Given the description of an element on the screen output the (x, y) to click on. 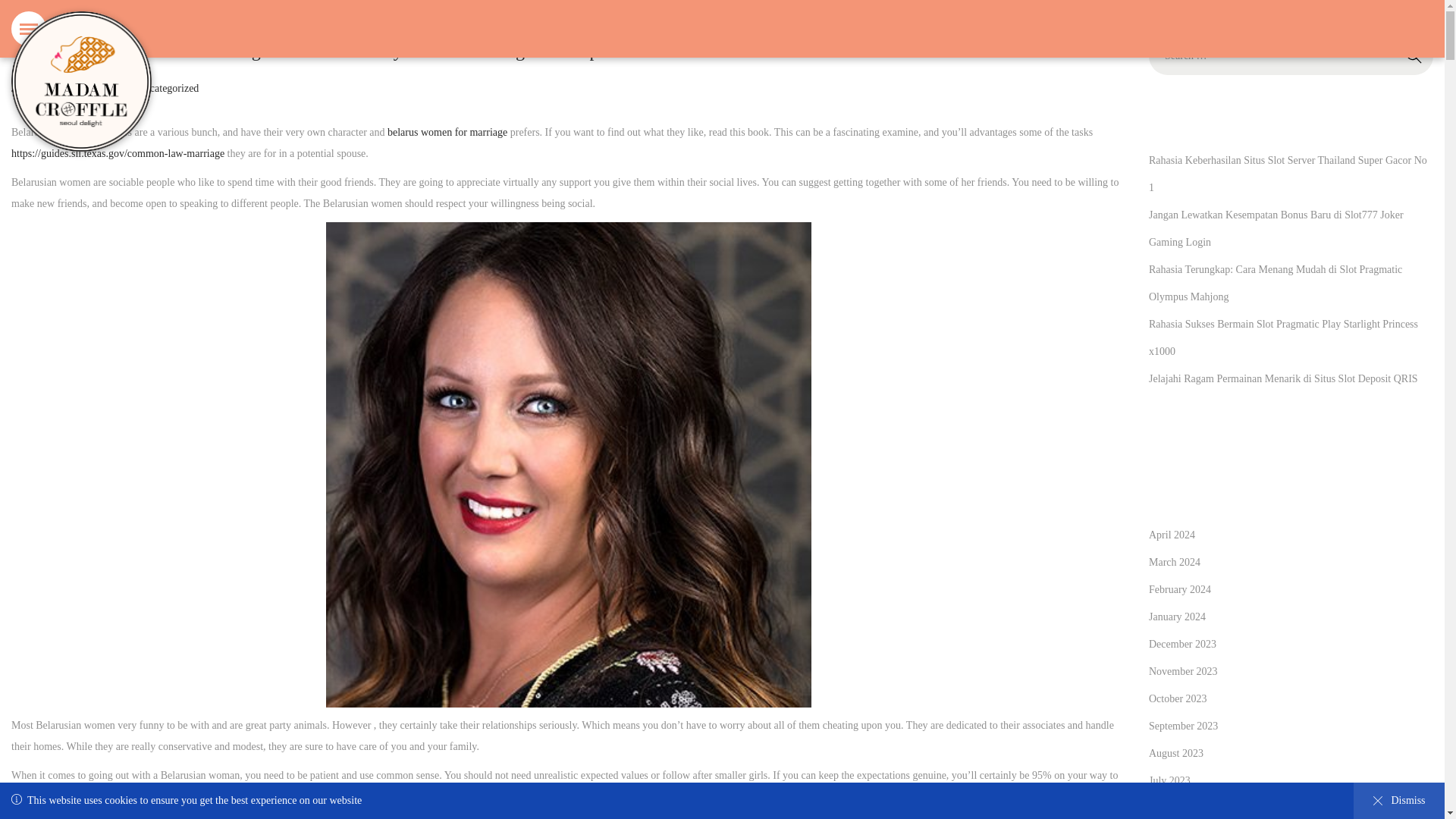
Search (1413, 55)
Jelajahi Ragam Permainan Menarik di Situs Slot Deposit QRIS (1283, 378)
November 2023 (1182, 671)
Search (1413, 55)
Search (1413, 55)
belarus women for marriage (446, 132)
Uncategorized (42, 88)
March 2024 (167, 88)
September 2023 (1173, 562)
